Given the description of an element on the screen output the (x, y) to click on. 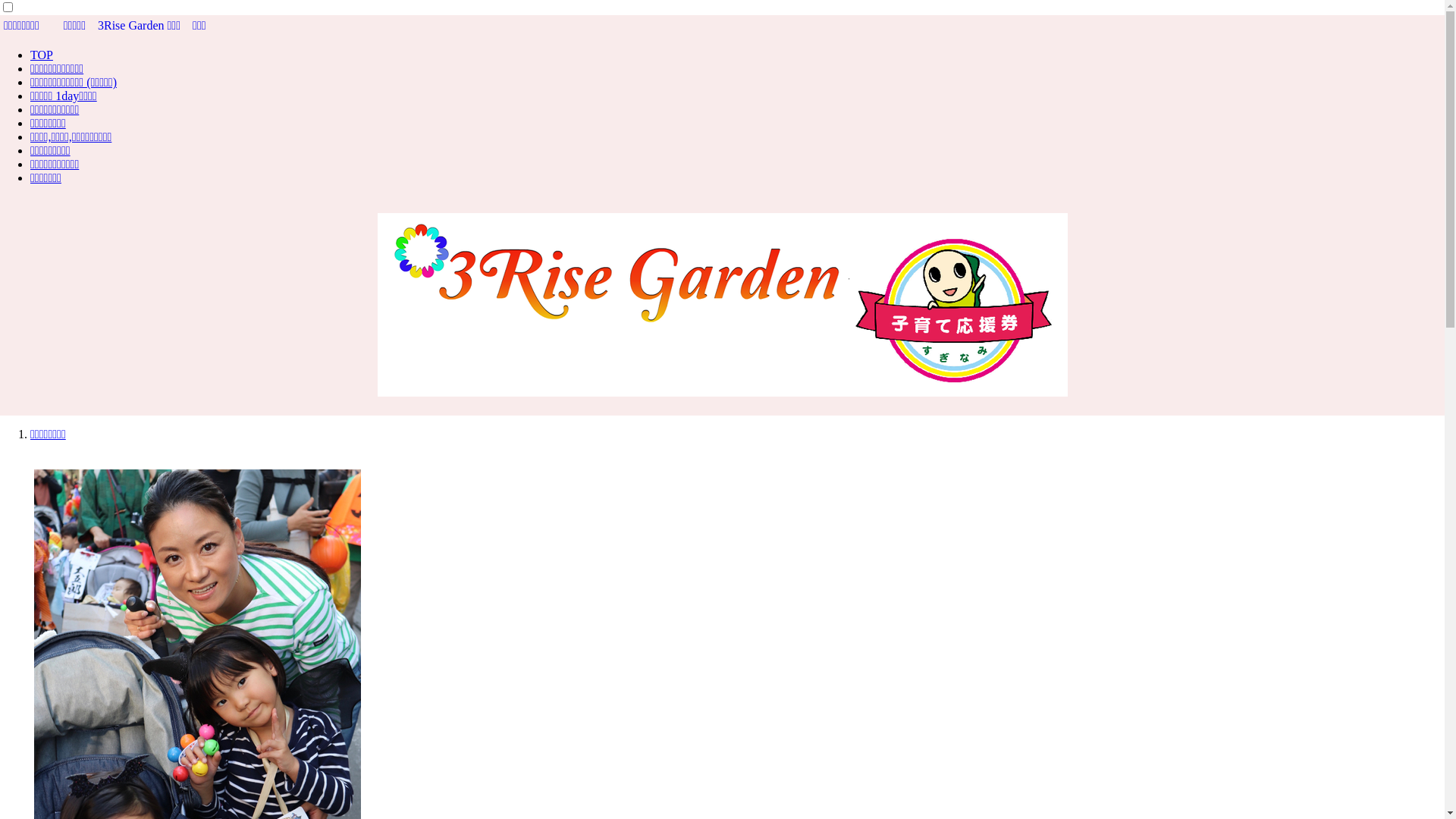
TOP Element type: text (41, 54)
